Given the description of an element on the screen output the (x, y) to click on. 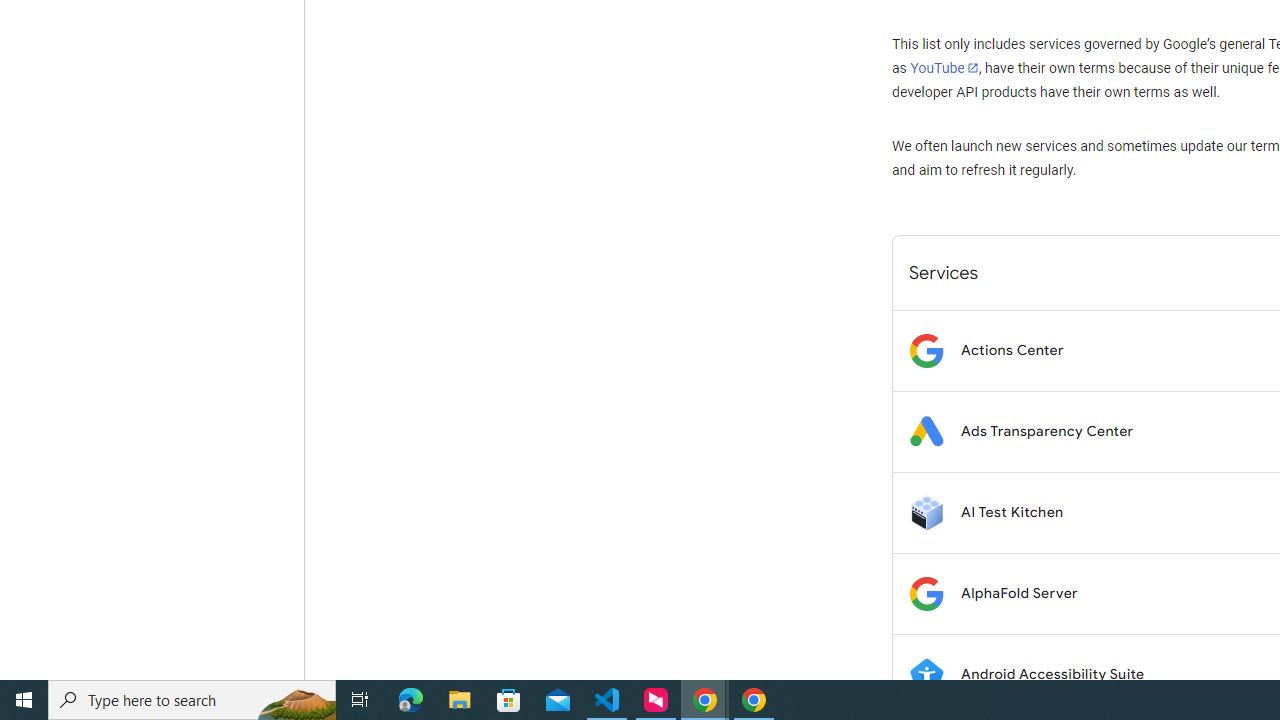
Logo for Ads Transparency Center (926, 431)
Logo for Actions Center (926, 349)
YouTube (944, 68)
Logo for AI Test Kitchen (926, 512)
Logo for Android Accessibility Suite (926, 673)
Logo for AlphaFold Server (926, 593)
